Given the description of an element on the screen output the (x, y) to click on. 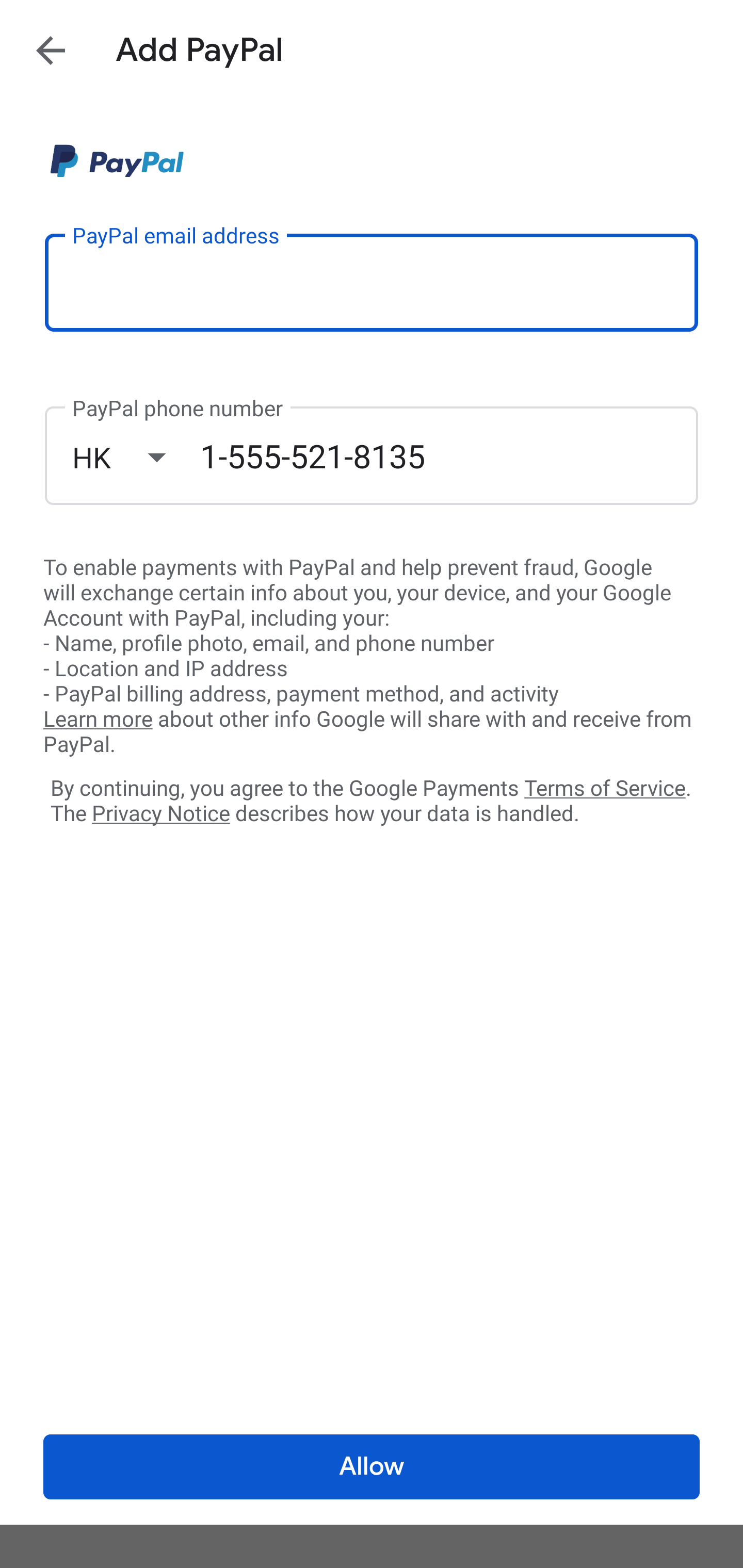
Navigate up (50, 50)
PayPal email address (371, 282)
HK (135, 456)
Learn more (97, 719)
Terms of Service (604, 787)
Privacy Notice (160, 814)
Allow (371, 1466)
